Given the description of an element on the screen output the (x, y) to click on. 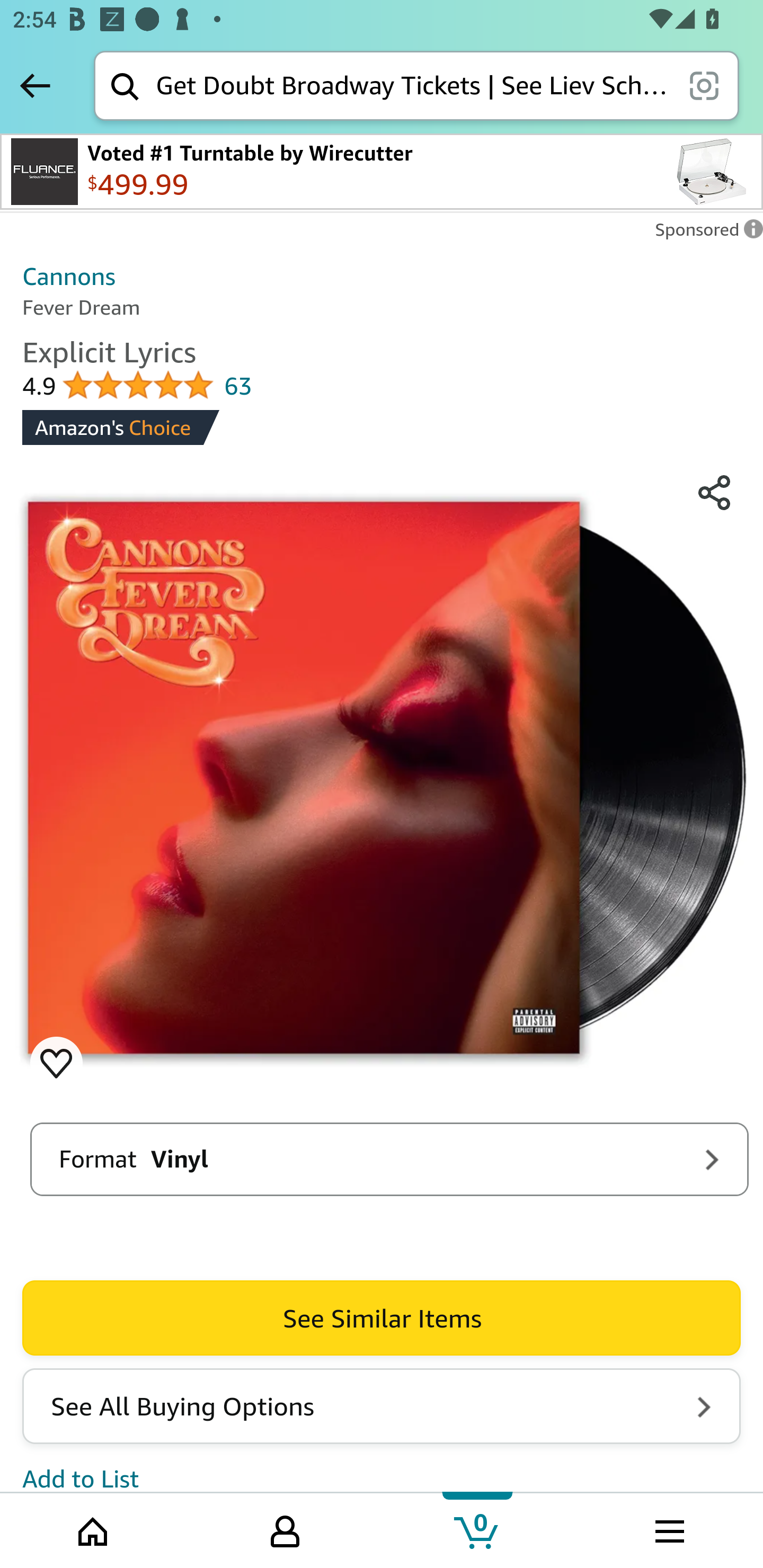
Back (35, 85)
scan it (704, 85)
Leave feedback on Sponsored ad Sponsored  (703, 234)
Cannons (68, 275)
Fever Dream (381, 778)
Heart to save an item to your default list (56, 1062)
Format Vinyl (389, 1159)
See Similar Items (381, 1318)
See All Buying Options (381, 1406)
Add to List (80, 1477)
Home Tab 1 of 4 (94, 1529)
Your Amazon.com Tab 2 of 4 (285, 1529)
Cart 0 item Tab 3 of 4 0 (477, 1529)
Browse menu Tab 4 of 4 (668, 1529)
